Given the description of an element on the screen output the (x, y) to click on. 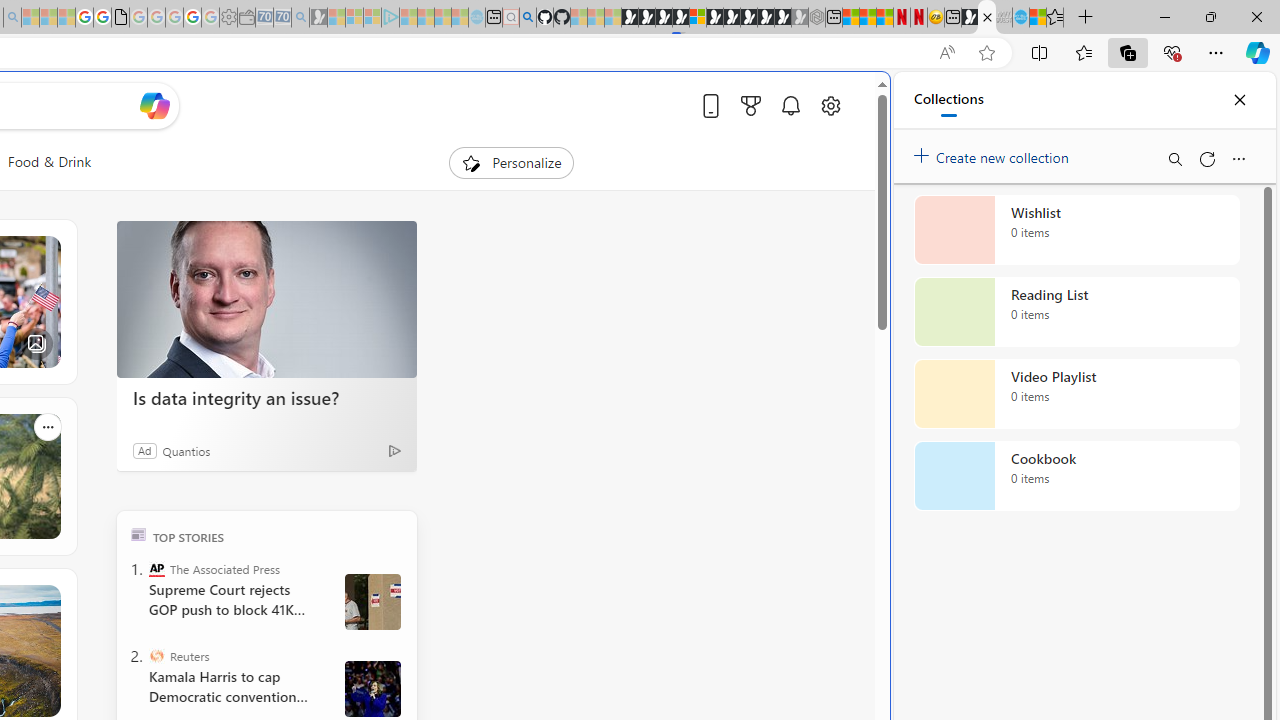
Search or enter web address (343, 191)
Close split screen (844, 102)
 Harris and Walz campaign in Wisconsin (372, 688)
